Given the description of an element on the screen output the (x, y) to click on. 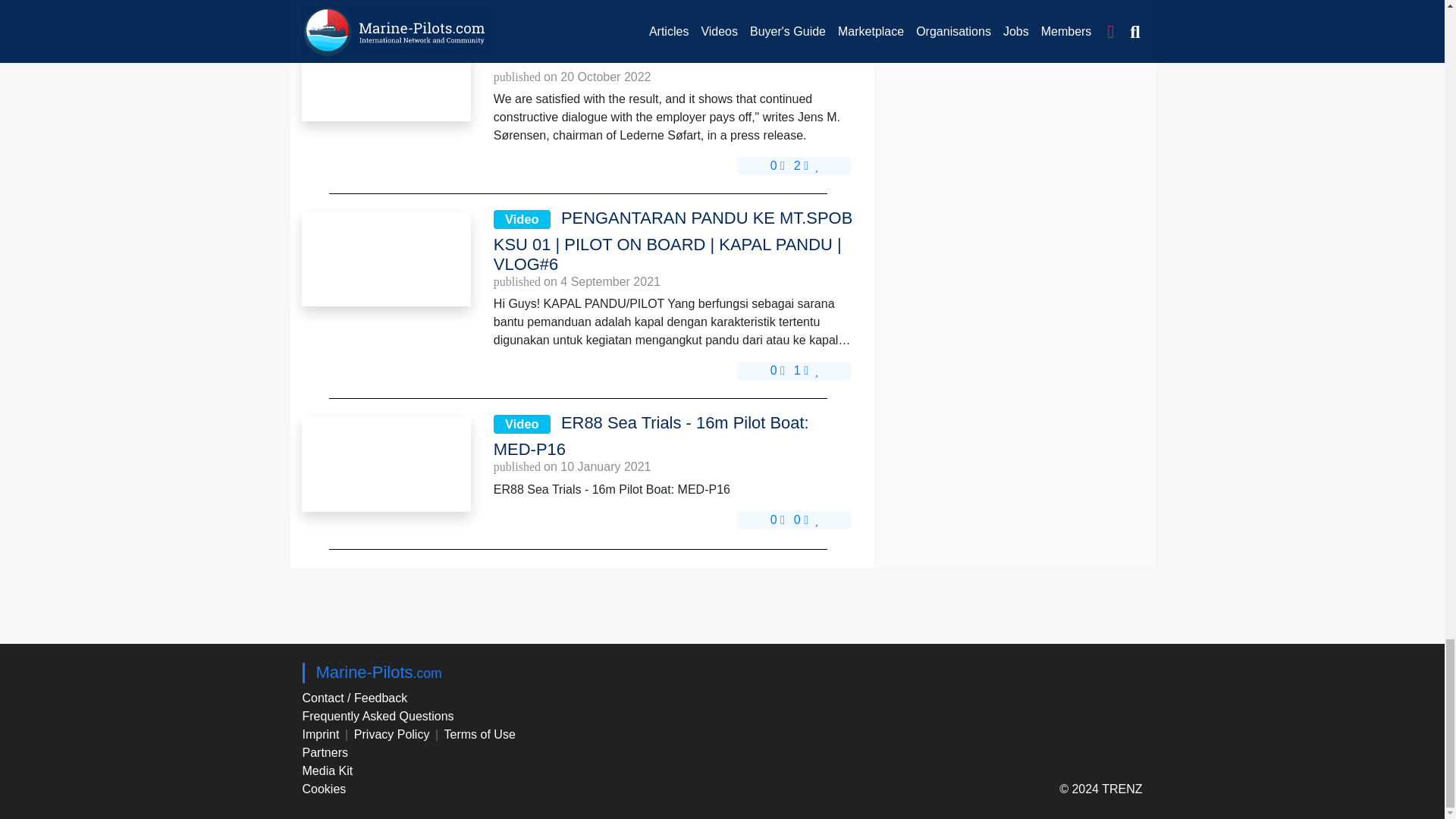
Danish pilots agree to collective agreement (385, 72)
Danish pilots agree to collective agreement (385, 74)
Danish pilots agree to collective agreement (674, 43)
ER88 Sea Trials - 16m Pilot Boat: MED-P16 (385, 463)
